Given the description of an element on the screen output the (x, y) to click on. 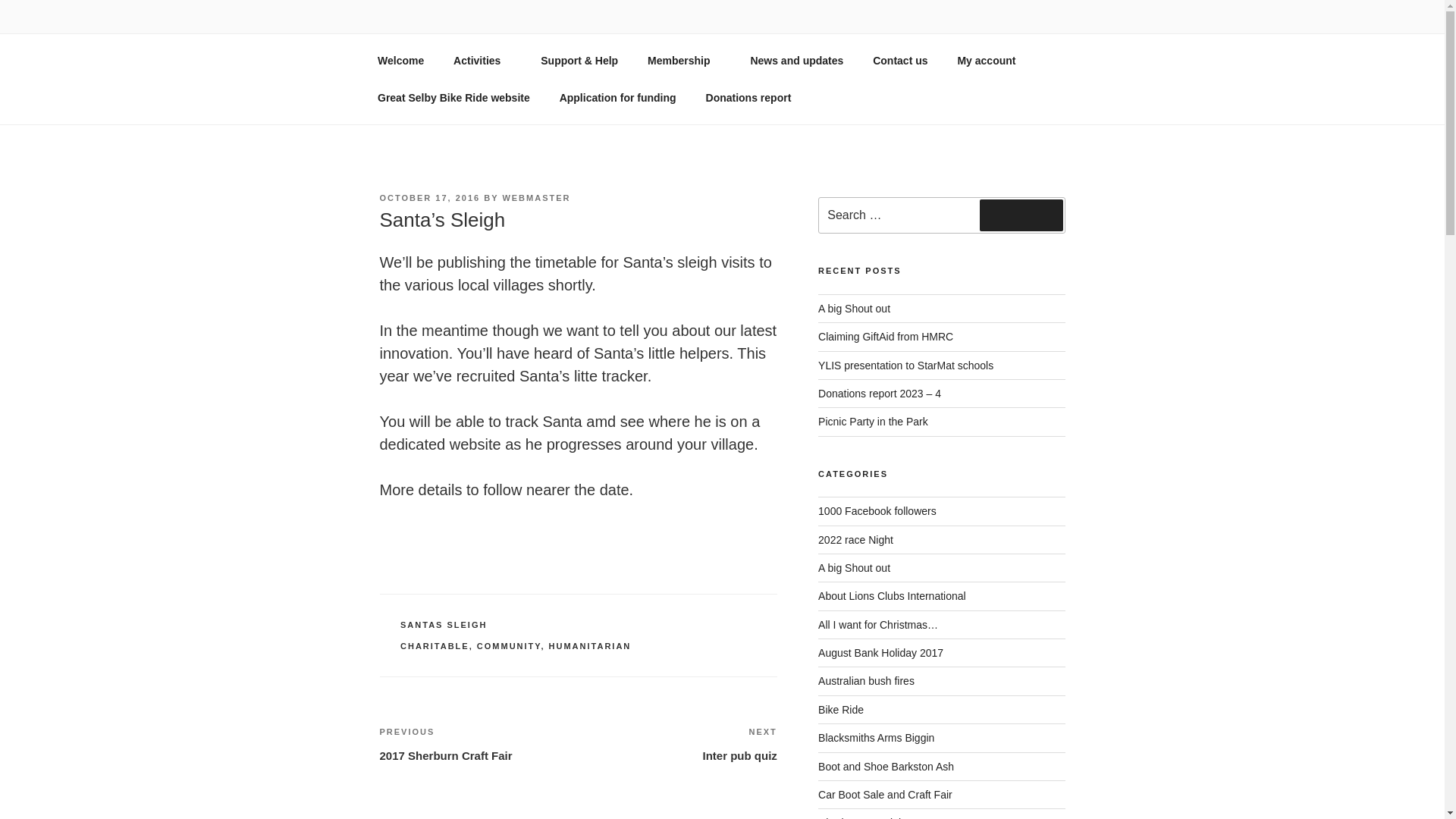
Membership (683, 60)
1000 Facebook followers (877, 510)
HUMANITARIAN (589, 645)
OCTOBER 17, 2016 (429, 197)
ELMET LIONS CLUB (529, 52)
My account (991, 60)
COMMUNITY (509, 645)
A big Shout out (853, 567)
Search (1020, 214)
Application for funding (617, 97)
Donations report (749, 97)
SANTAS SLEIGH (443, 624)
CHARITABLE (677, 743)
WEBMASTER (434, 645)
